Given the description of an element on the screen output the (x, y) to click on. 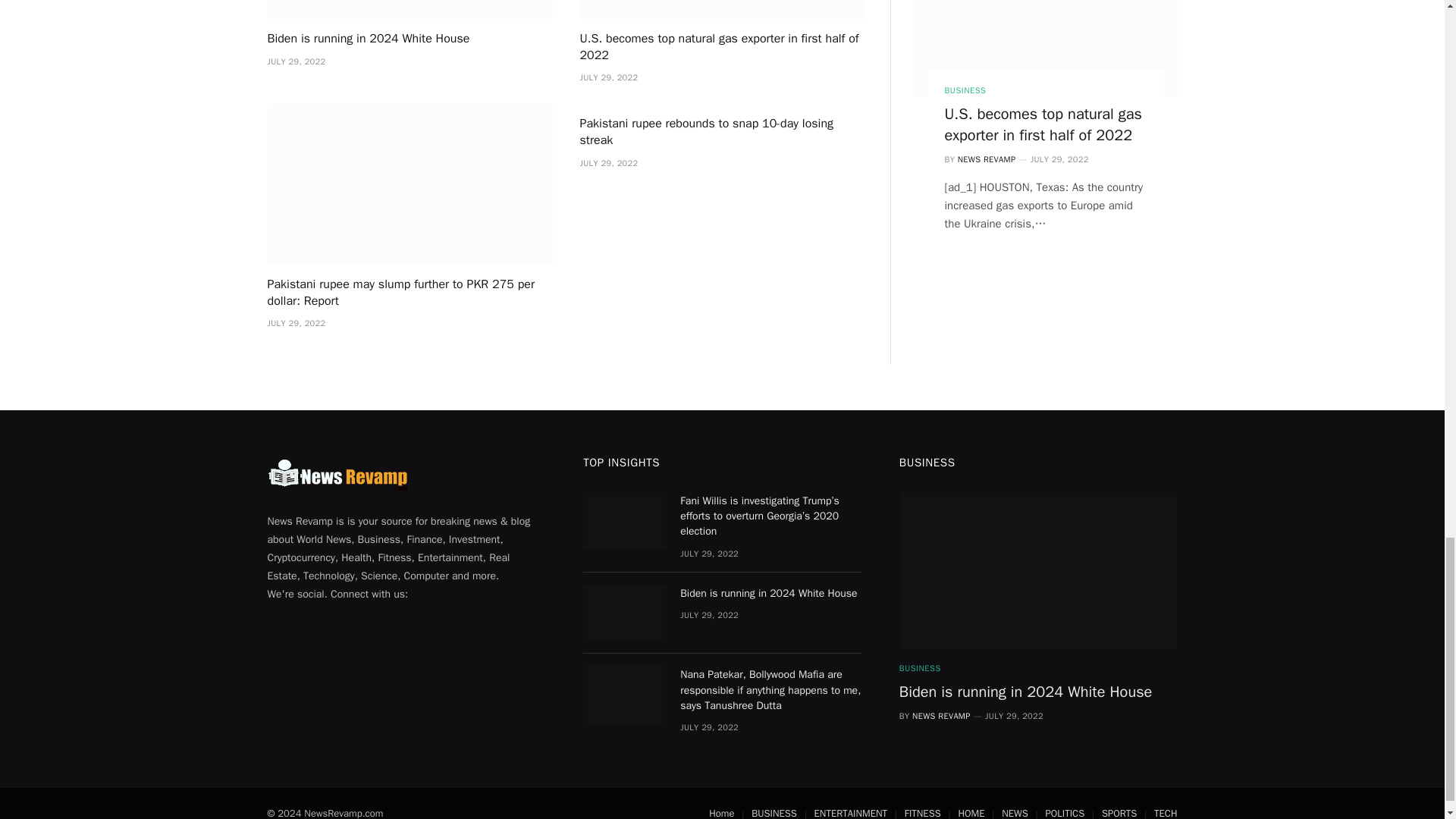
Biden is running in 2024 White House (408, 9)
U.S. becomes top natural gas exporter in first half of 2022 (721, 47)
Biden is running in 2024 White House (408, 39)
U.S. becomes top natural gas exporter in first half of 2022 (721, 9)
